Given the description of an element on the screen output the (x, y) to click on. 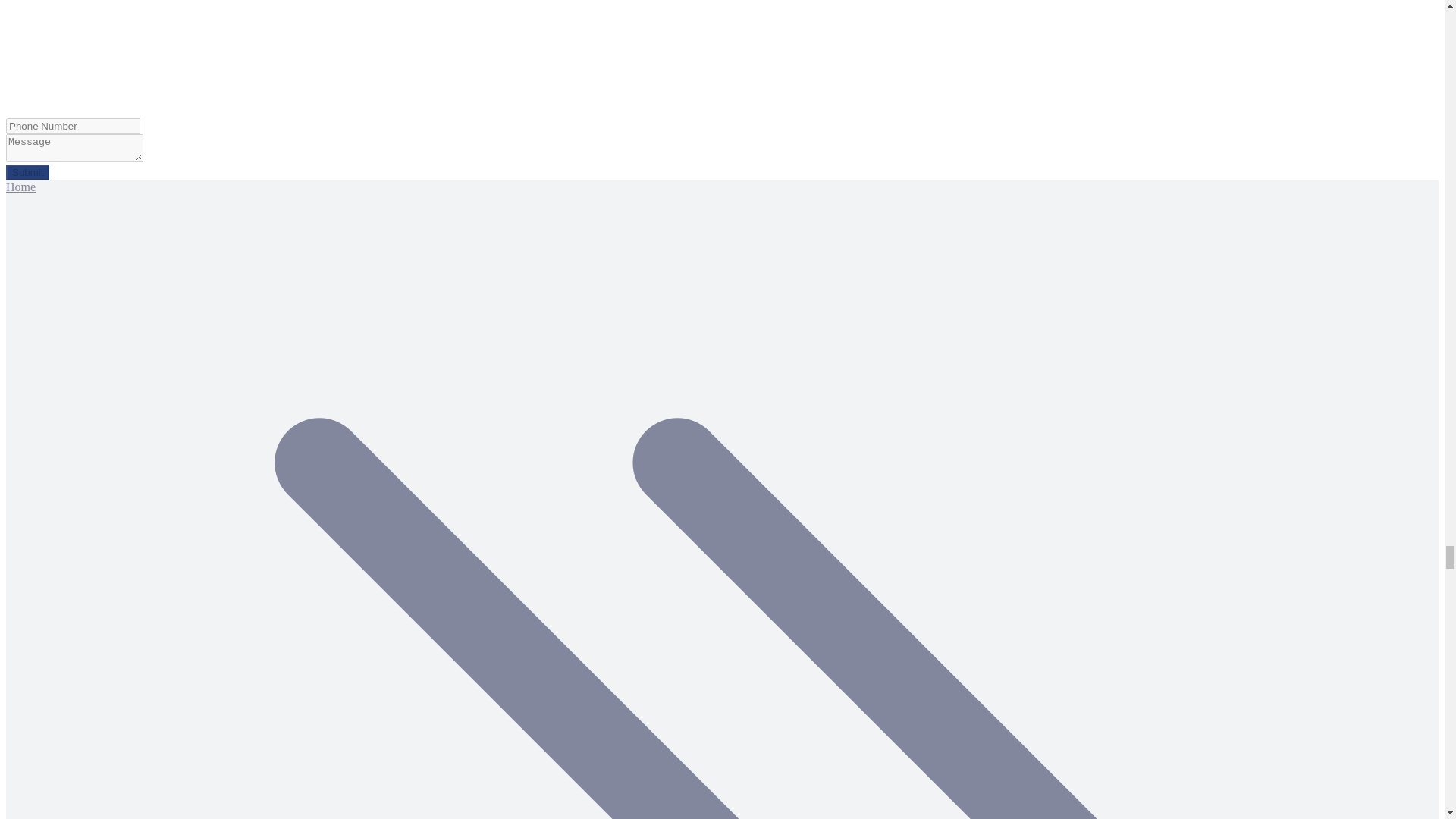
Submit (27, 172)
